Given the description of an element on the screen output the (x, y) to click on. 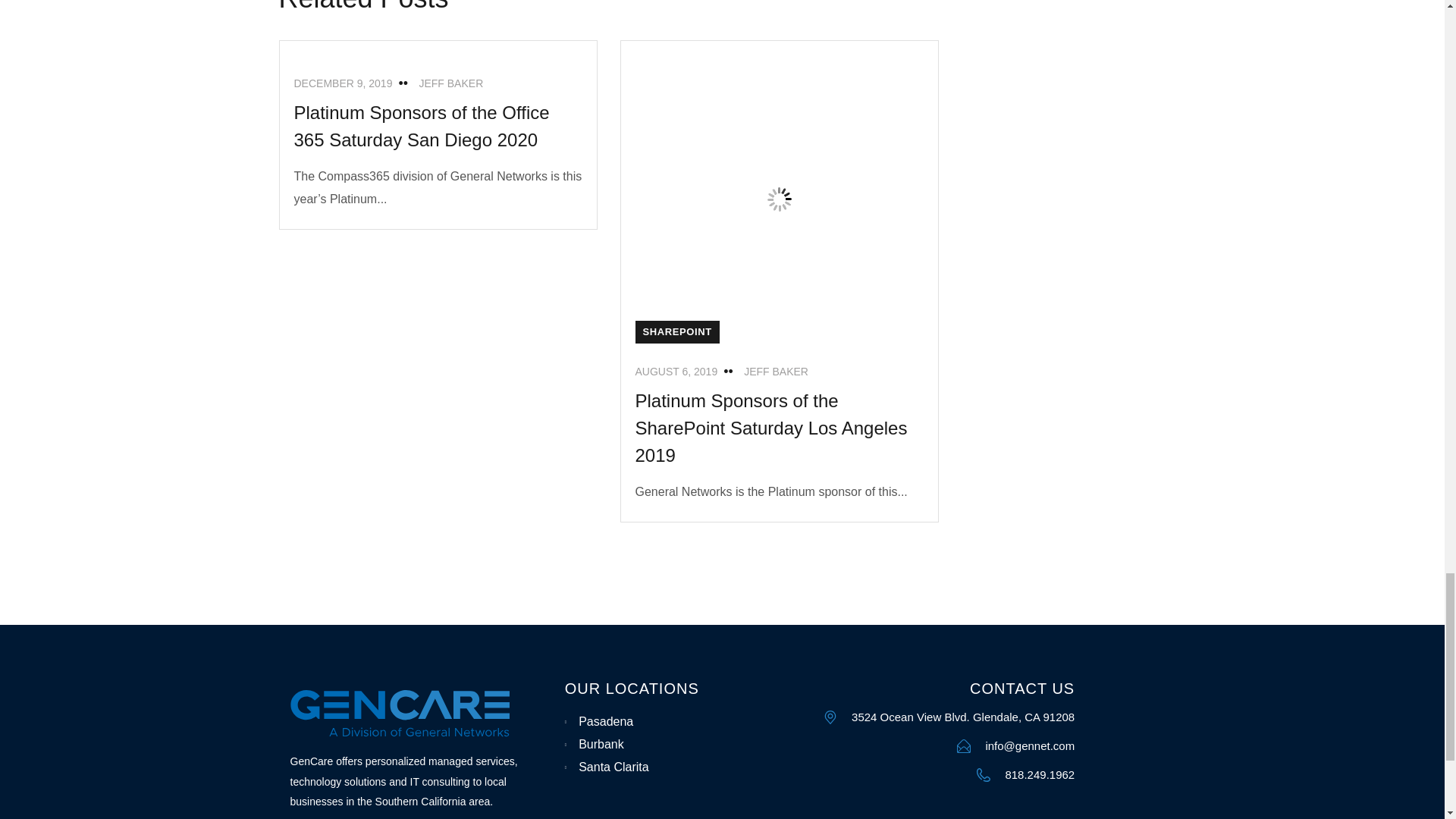
JEFF BAKER (776, 371)
DECEMBER 9, 2019 (343, 82)
SHAREPOINT (676, 332)
Platinum Sponsors of the Office 365 Saturday San Diego 2020 (422, 125)
AUGUST 6, 2019 (675, 371)
JEFF BAKER (451, 82)
